Given the description of an element on the screen output the (x, y) to click on. 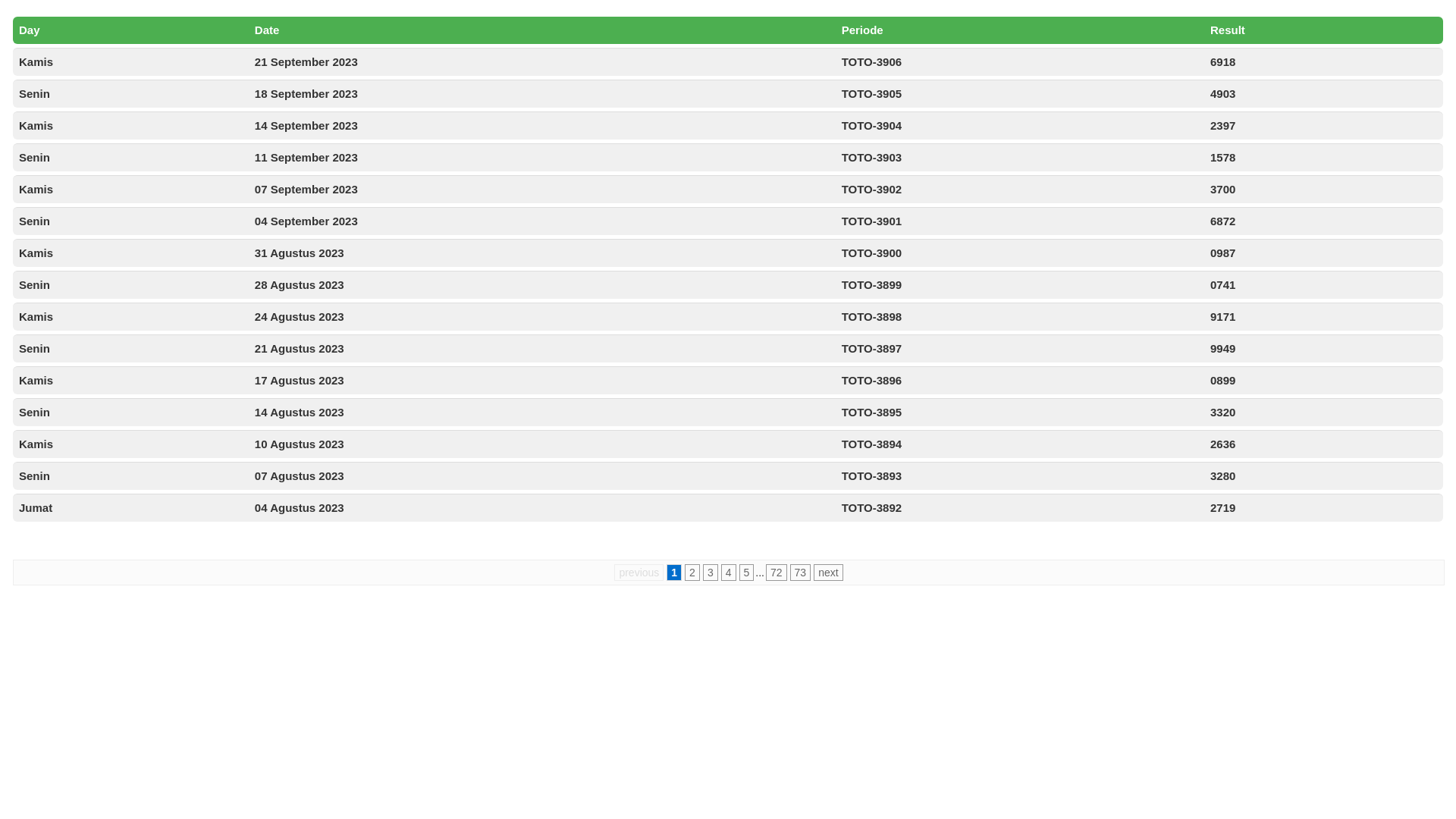
5 Element type: text (745, 572)
2 Element type: text (691, 572)
72 Element type: text (776, 572)
3 Element type: text (710, 572)
next Element type: text (827, 572)
73 Element type: text (800, 572)
4 Element type: text (728, 572)
